Given the description of an element on the screen output the (x, y) to click on. 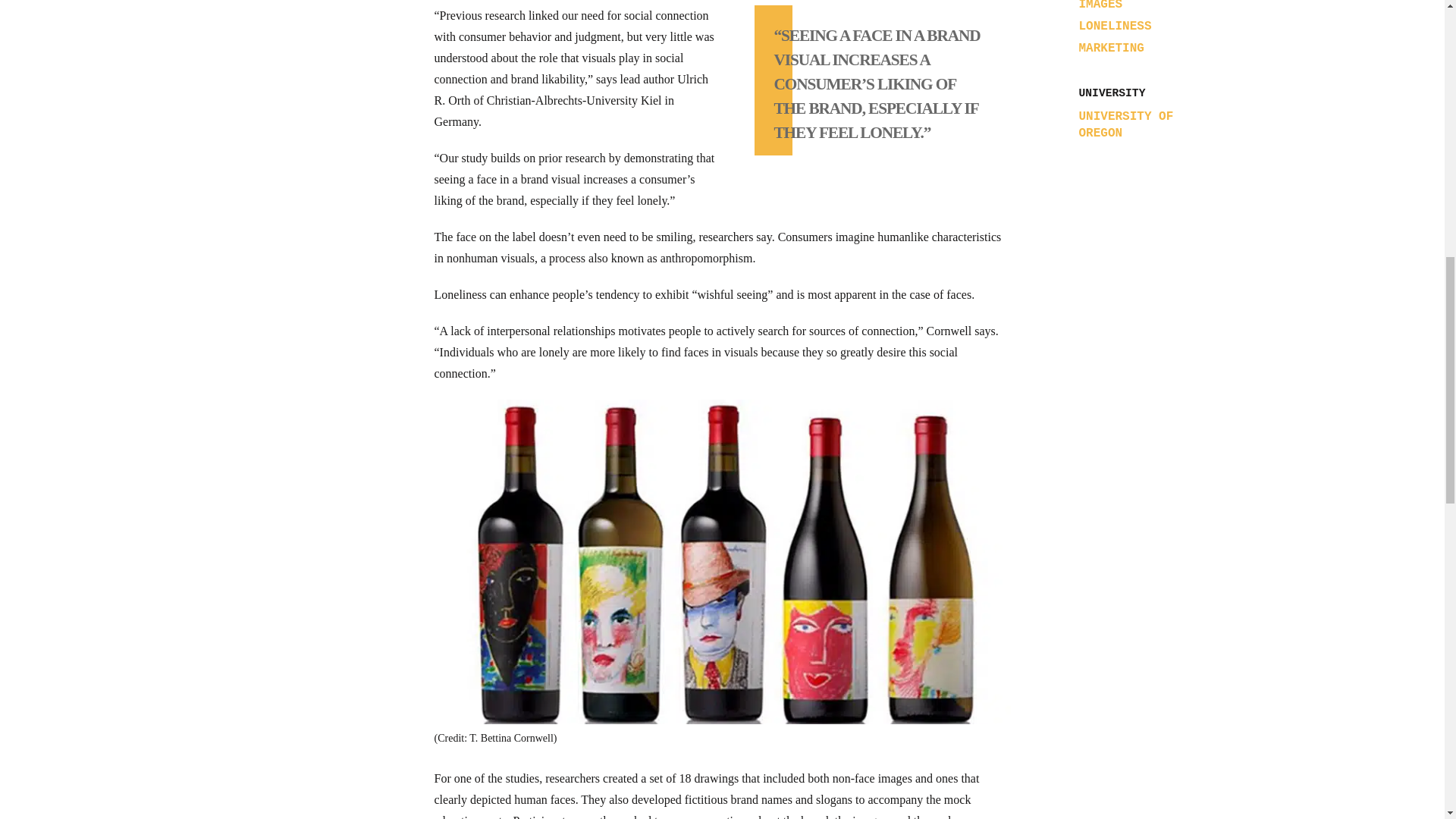
IMAGES (1100, 5)
MARKETING (1110, 48)
LONELINESS (1114, 26)
